Given the description of an element on the screen output the (x, y) to click on. 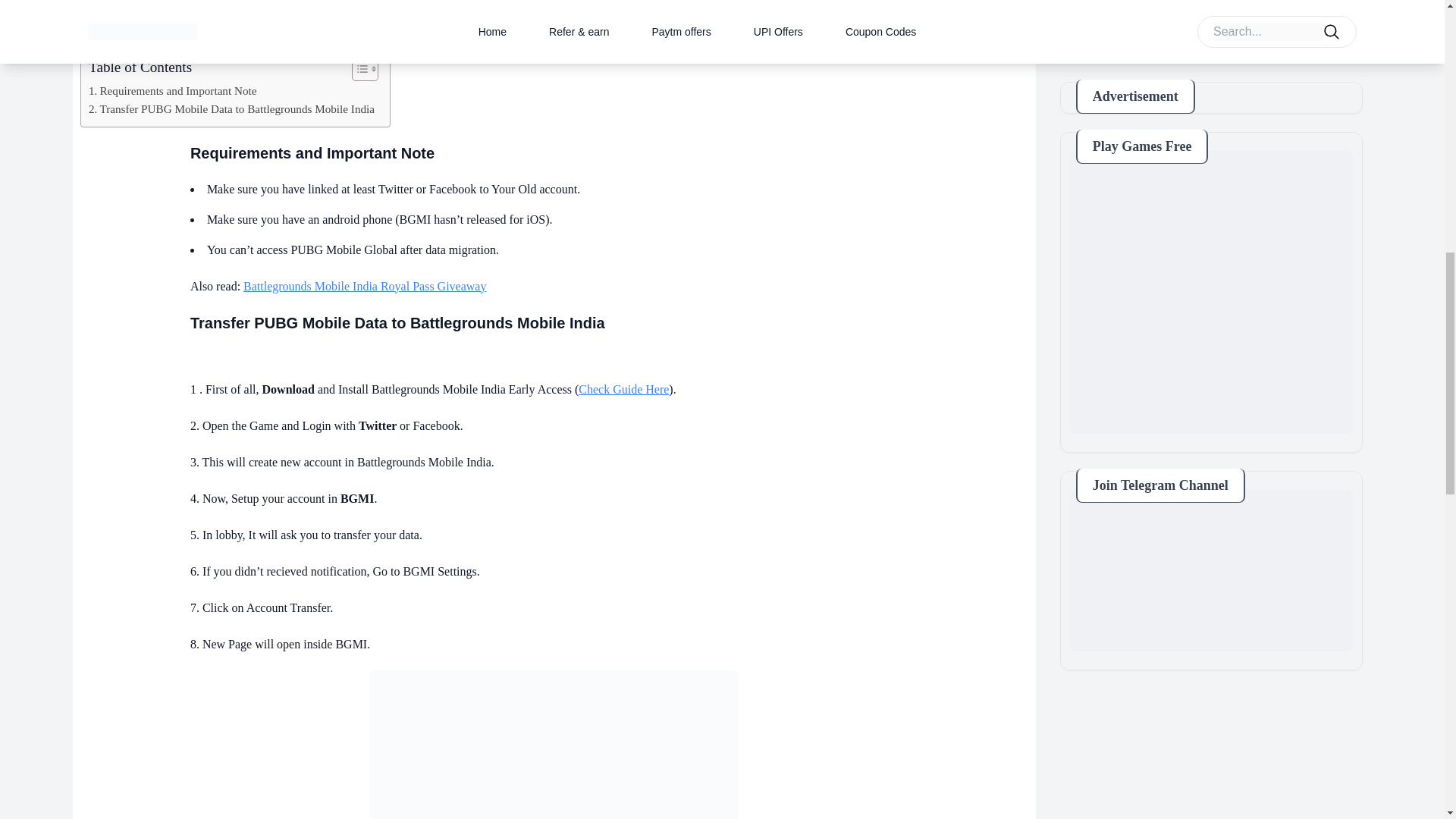
Transfer PUBG Mobile Data to Battlegrounds Mobile India (231, 108)
Transfer PUBG Mobile Data to Battlegrounds Mobile India (231, 108)
Transfer PUBG Mobile Data to Battlegrounds Mobile India (553, 744)
Requirements and Important Note (172, 90)
Battlegrounds Mobile India Royal Pass Giveaway (364, 286)
Requirements and Important Note (172, 90)
Check Guide Here (623, 389)
